Given the description of an element on the screen output the (x, y) to click on. 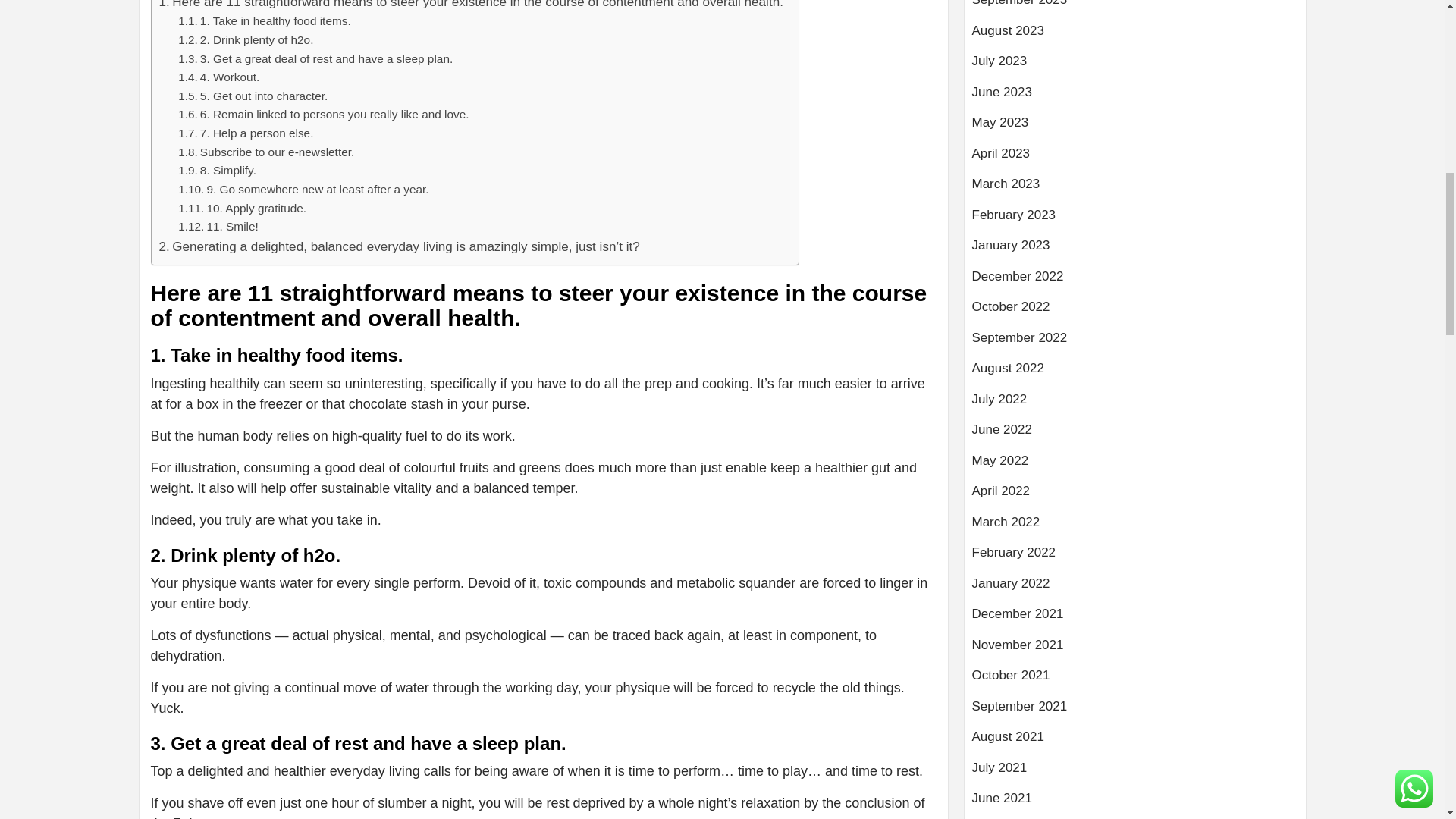
2. Drink plenty of h2o. (245, 40)
5. Get out into character. (252, 96)
9. Go somewhere new at least after a year. (302, 189)
8. Simplify. (216, 170)
3. Get a great deal of rest and have a sleep plan. (314, 58)
7. Help a person else. (245, 133)
3. Get a great deal of rest and have a sleep plan. (314, 58)
Subscribe to our e-newsletter. (265, 152)
2. Drink plenty of h2o. (245, 40)
Subscribe to our e-newsletter. (265, 152)
